Given the description of an element on the screen output the (x, y) to click on. 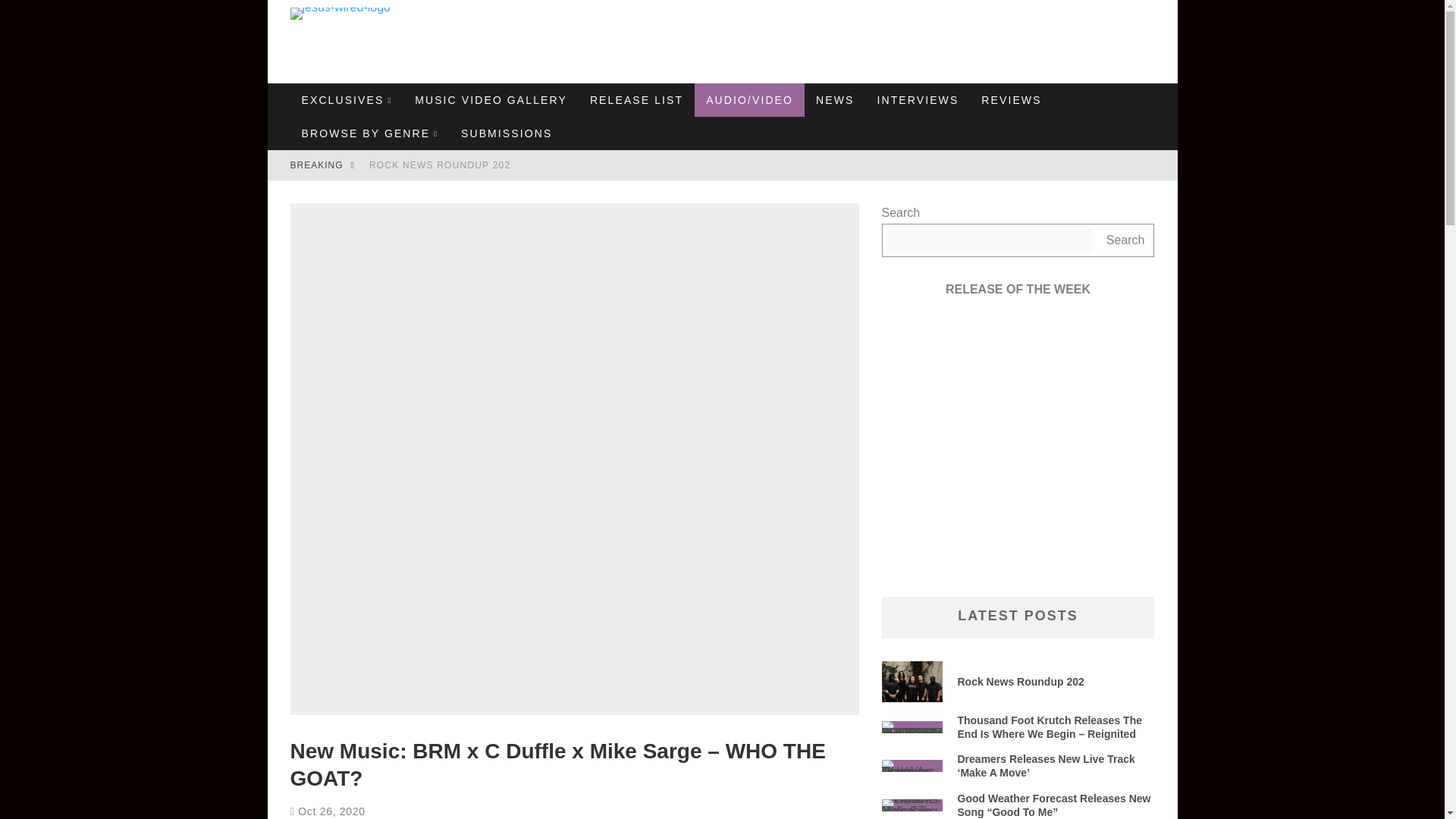
EXCLUSIVES (346, 100)
MUSIC VIDEO GALLERY (490, 100)
Rock News Roundup 202 (440, 164)
RELEASE LIST (636, 100)
